Given the description of an element on the screen output the (x, y) to click on. 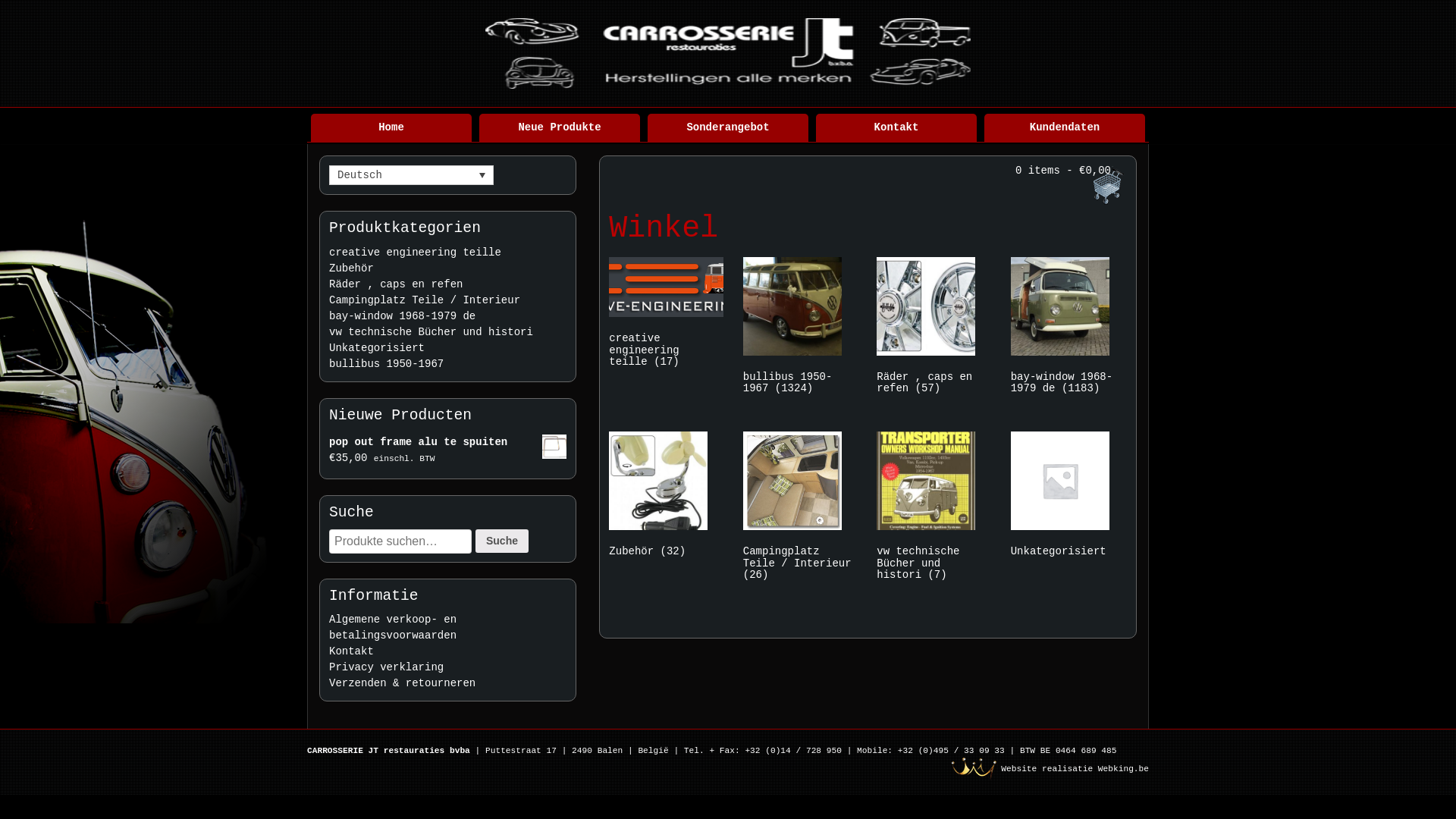
Unkategorisiert Element type: text (1067, 496)
bullibus 1950-1967 (1324) Element type: text (800, 328)
Home Element type: text (390, 127)
Kundendaten Element type: text (1064, 127)
creative engineering teille (17) Element type: text (665, 315)
bay-window 1968-1979 de (1183) Element type: text (1067, 328)
creative engineering teille Element type: text (447, 252)
Unkategorisiert Element type: text (447, 348)
Sonderangebot Element type: text (727, 127)
Privacy verklaring Element type: text (386, 667)
Kontakt Element type: text (351, 651)
Suche Element type: text (501, 540)
Verzenden & retourneren Element type: text (402, 683)
Campingplatz Teile / Interieur (26) Element type: text (800, 508)
Deutsch Element type: text (411, 175)
pop out frame alu te spuiten Element type: text (447, 442)
Kontakt Element type: text (895, 127)
bullibus 1950-1967 Element type: text (447, 364)
bay-window 1968-1979 de Element type: text (447, 316)
Webking.be Element type: text (1123, 768)
Neue Produkte Element type: text (559, 127)
Campingplatz Teile / Interieur Element type: text (447, 300)
Algemene verkoop- en betalingsvoorwaarden Element type: text (392, 627)
